Given the description of an element on the screen output the (x, y) to click on. 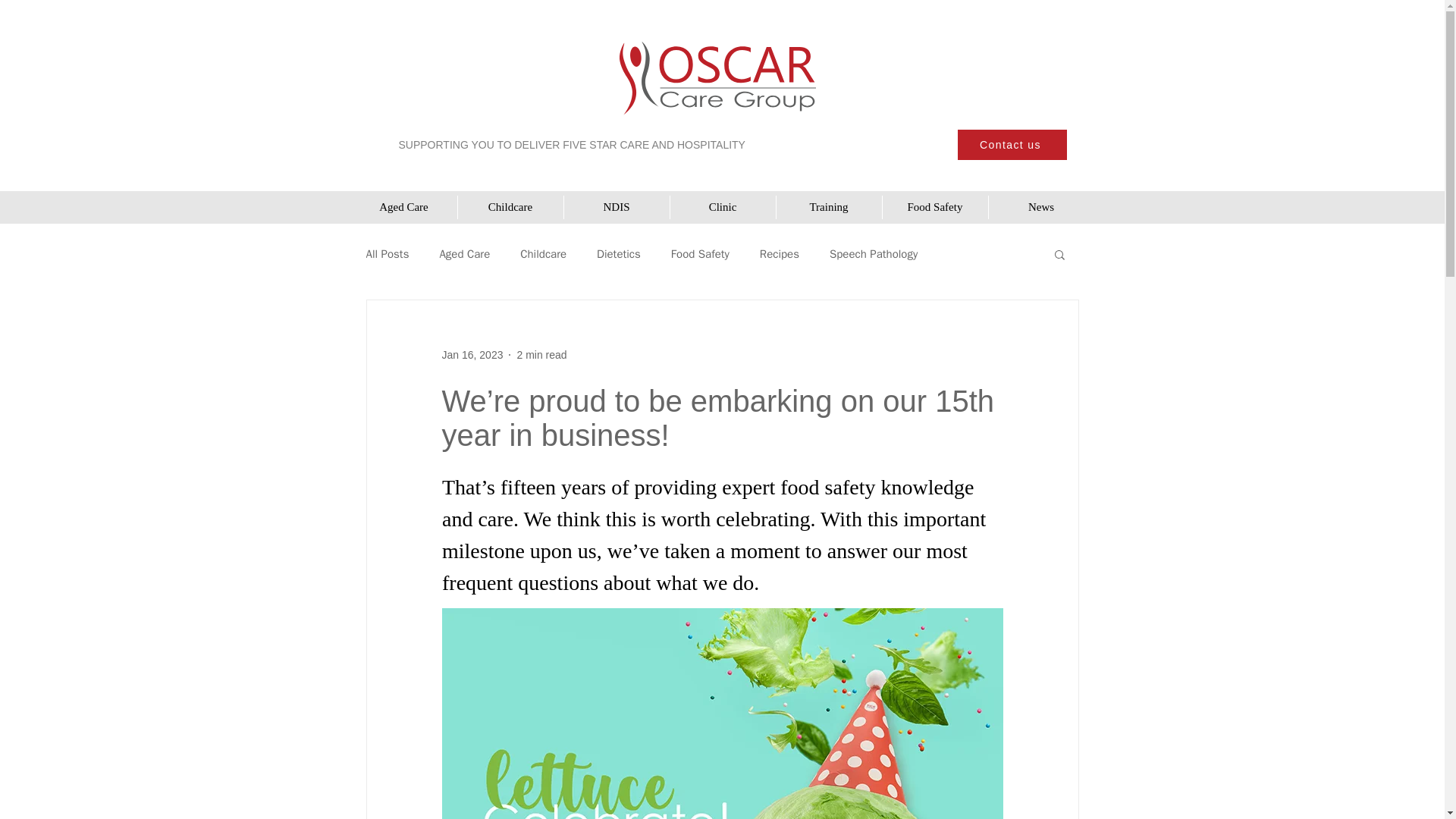
NDIS (615, 207)
Contact us (1010, 144)
Food Safety (933, 207)
Jan 16, 2023 (471, 354)
Aged Care (403, 207)
Training (827, 207)
Childcare (509, 207)
2 min read (541, 354)
News (1040, 207)
Clinic (721, 207)
